Given the description of an element on the screen output the (x, y) to click on. 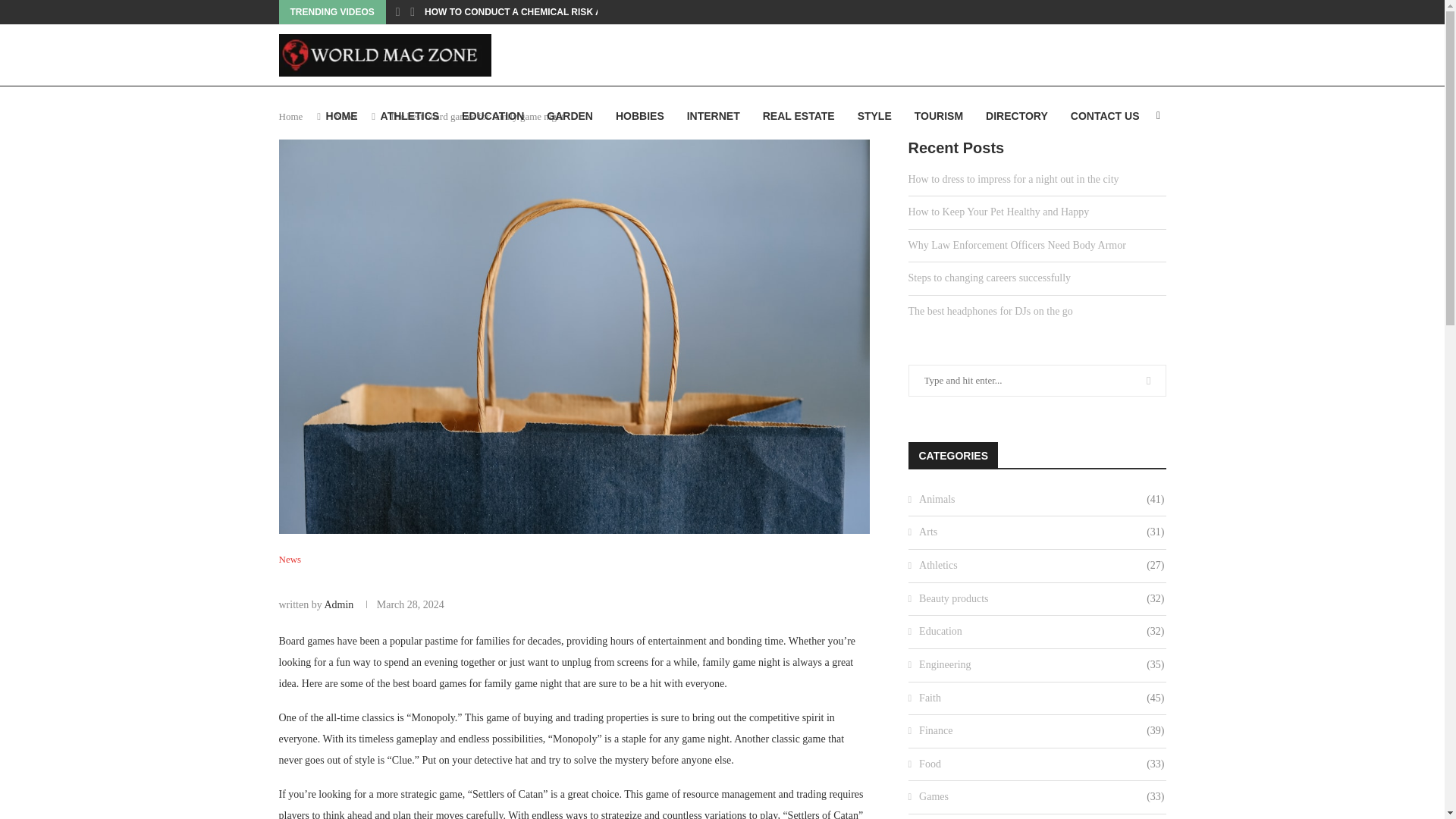
News (346, 116)
CONTACT US (1105, 115)
EDUCATION (492, 115)
Home (290, 116)
ATHLETICS (409, 115)
DIRECTORY (1016, 115)
HOW TO CONDUCT A CHEMICAL RISK ASSESSMENT IN... (551, 12)
REAL ESTATE (798, 115)
